Given the description of an element on the screen output the (x, y) to click on. 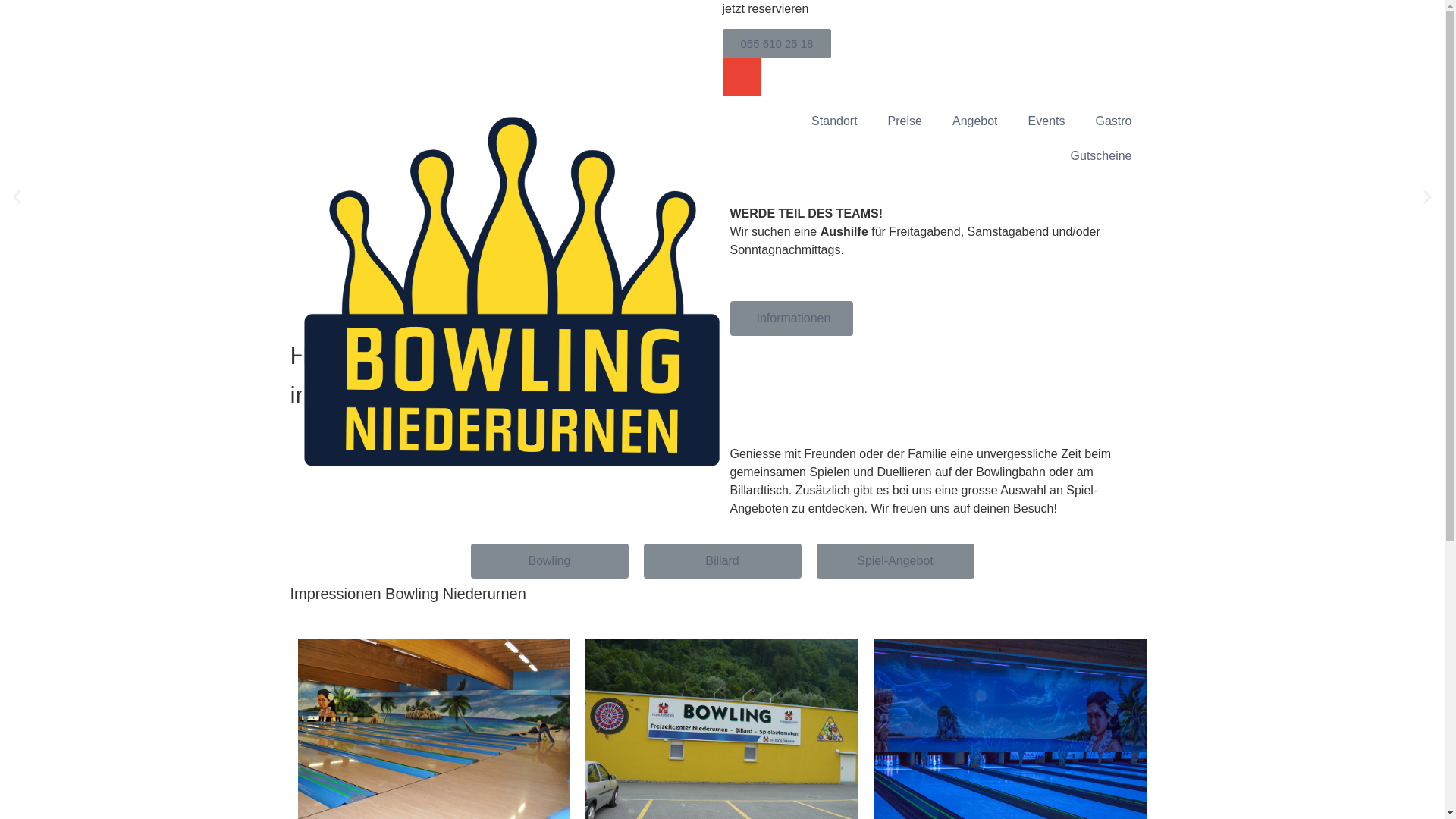
055 610 25 18 Element type: text (776, 43)
Preise Element type: text (904, 120)
Gutscheine Element type: text (1101, 155)
Events Element type: text (1046, 120)
Gastro Element type: text (1112, 120)
Billard Element type: text (721, 560)
Angebot Element type: text (975, 120)
Spiel-Angebot Element type: text (894, 560)
Standort Element type: text (834, 120)
Informationen Element type: text (791, 318)
Bowling Element type: text (548, 560)
